Given the description of an element on the screen output the (x, y) to click on. 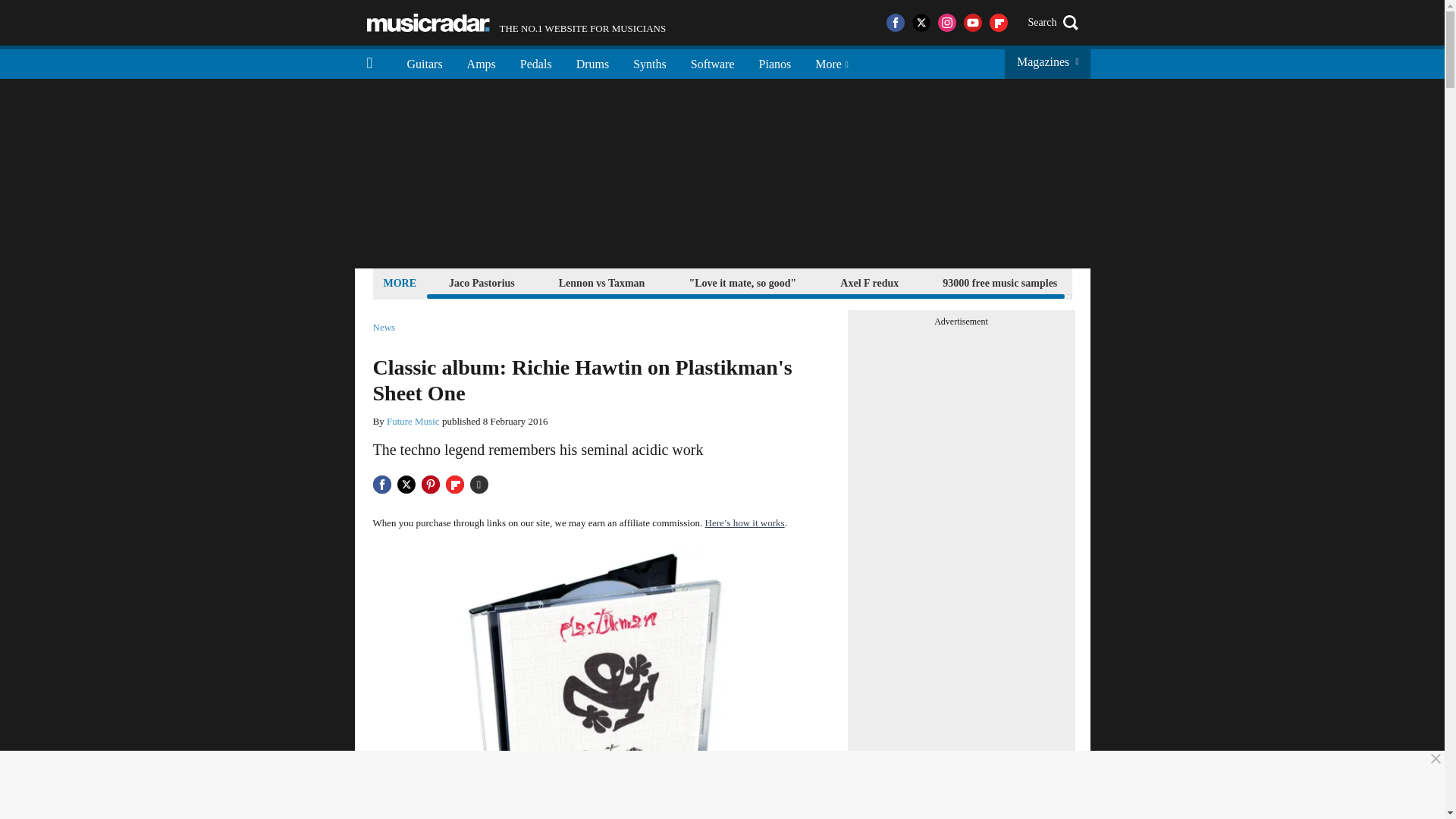
Synths (649, 61)
Software (712, 61)
Axel F redux (869, 282)
Jaco Pastorius (481, 282)
Amps (481, 61)
Drums (592, 61)
"Love it mate, so good" (742, 282)
93000 free music samples (999, 282)
Music Radar (427, 22)
Pedals (536, 61)
Lennon vs Taxman (601, 282)
